Given the description of an element on the screen output the (x, y) to click on. 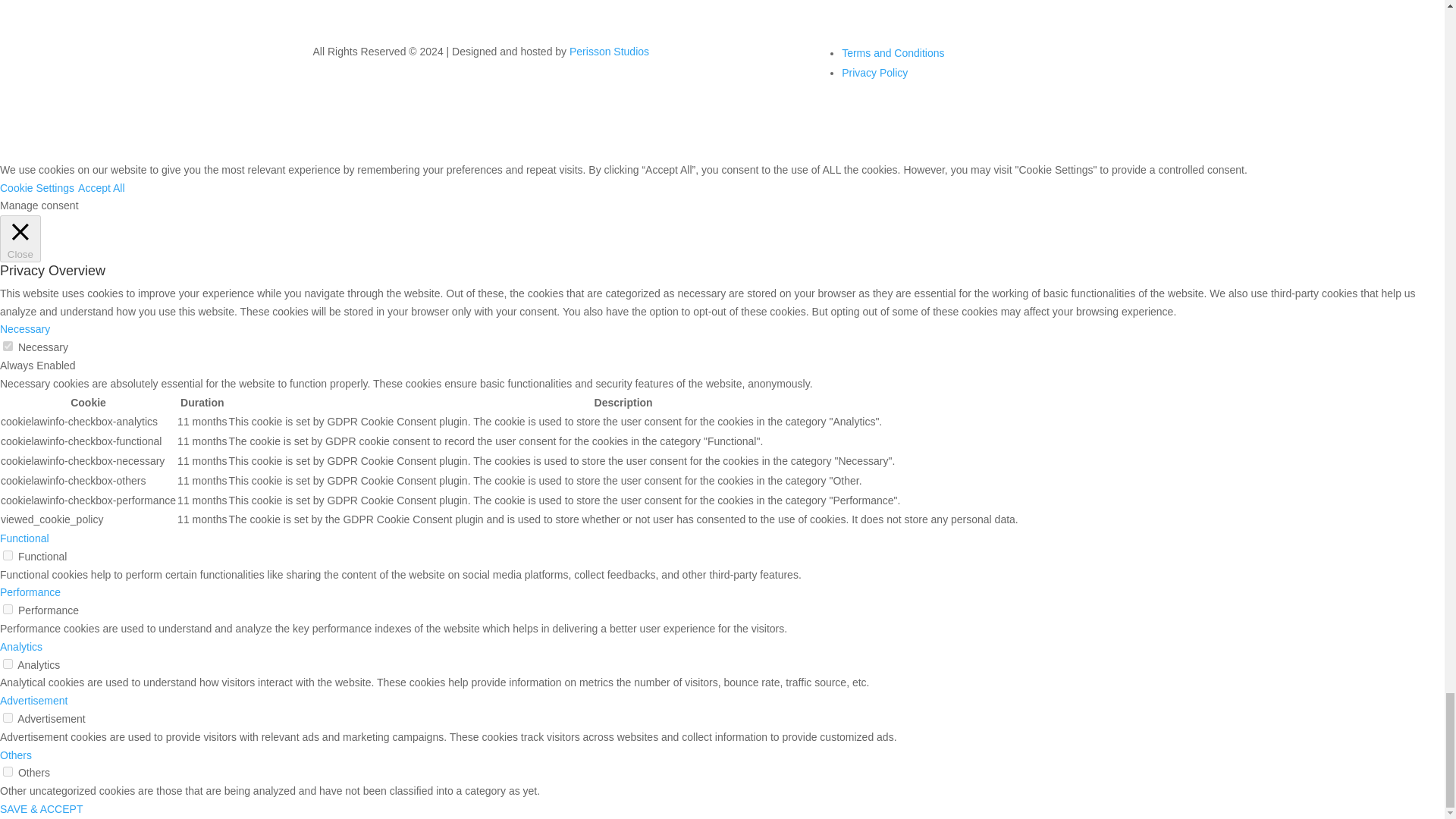
Perisson Studios (609, 51)
Privacy Policy (874, 72)
Advertisement (33, 700)
Terms and Conditions (892, 52)
Functional (24, 538)
on (7, 346)
on (7, 555)
on (7, 609)
on (7, 717)
Accept All (100, 187)
Cookie Settings (37, 187)
on (7, 771)
Others (16, 755)
Performance (30, 592)
Analytics (21, 646)
